Given the description of an element on the screen output the (x, y) to click on. 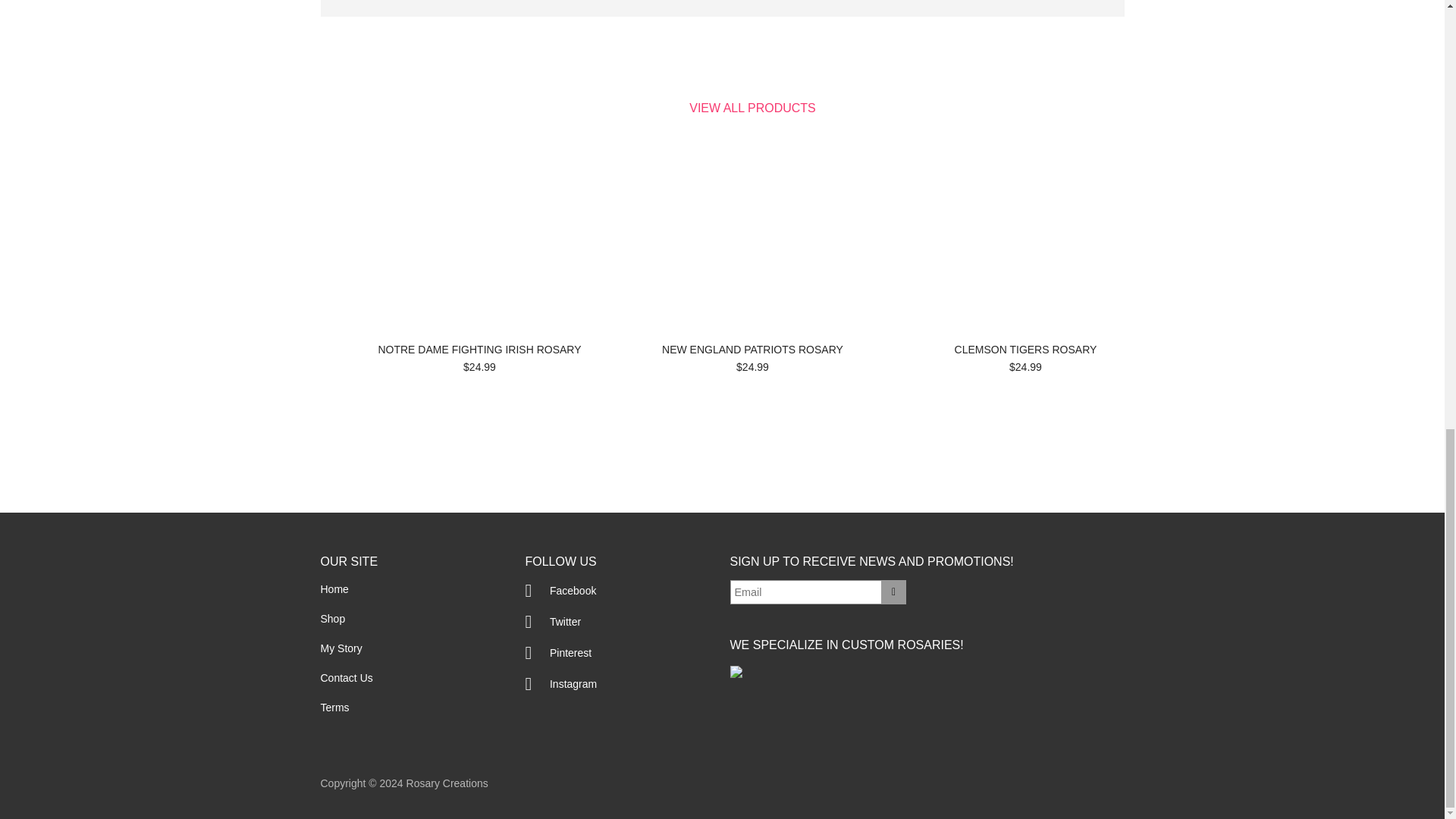
VIEW ALL PRODUCTS (751, 107)
